Given the description of an element on the screen output the (x, y) to click on. 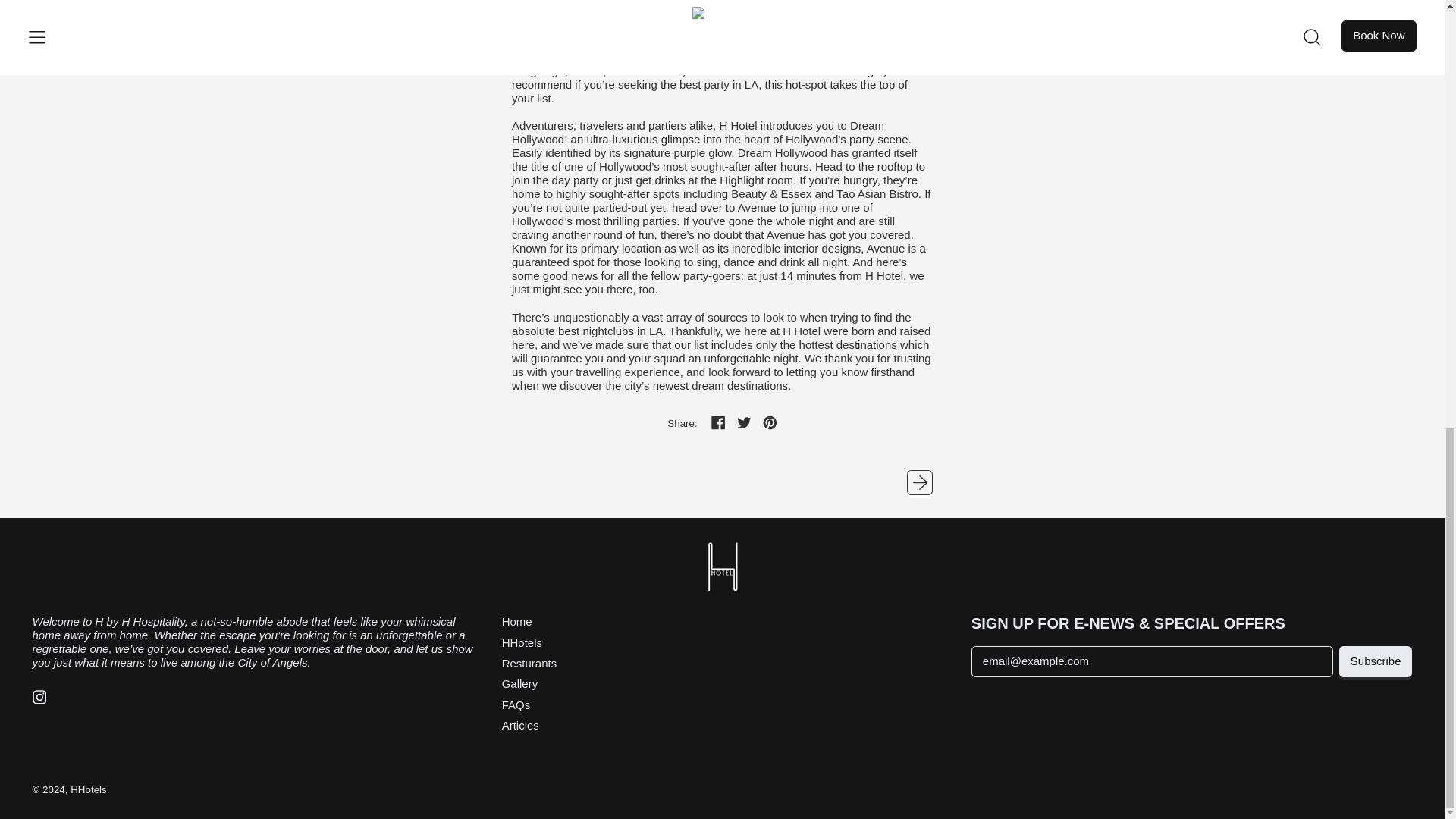
Home (517, 621)
Pin on Pinterest (770, 424)
Share on Facebook (719, 424)
Subscribe (1375, 661)
HHotels (521, 642)
Instagram (39, 698)
Resturants (529, 662)
FAQs (516, 704)
Gallery (520, 683)
Articles (520, 725)
